Given the description of an element on the screen output the (x, y) to click on. 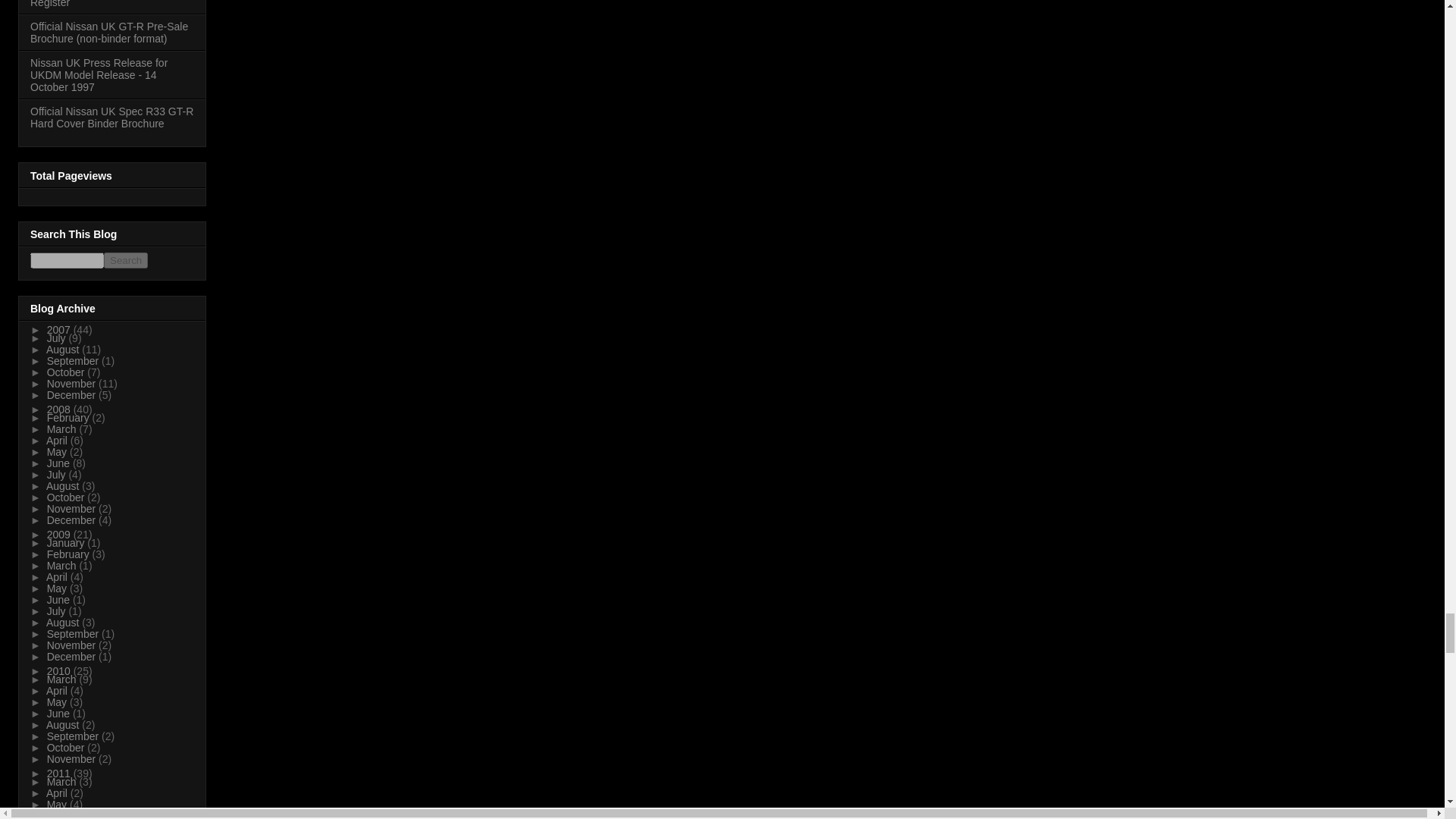
search (125, 260)
Search (125, 260)
Search (125, 260)
search (66, 260)
